Given the description of an element on the screen output the (x, y) to click on. 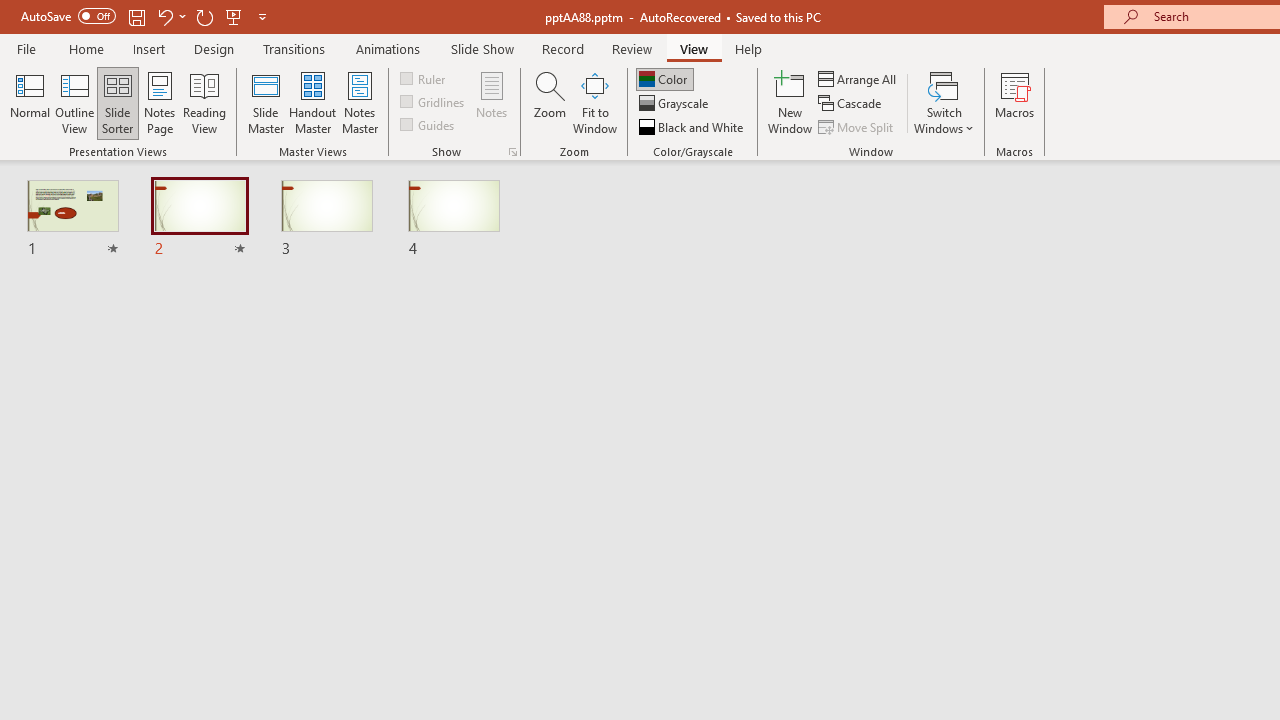
Grayscale (675, 103)
Black and White (693, 126)
New Window (790, 102)
Grid Settings... (512, 151)
Gridlines (433, 101)
Zoom... (549, 102)
